Given the description of an element on the screen output the (x, y) to click on. 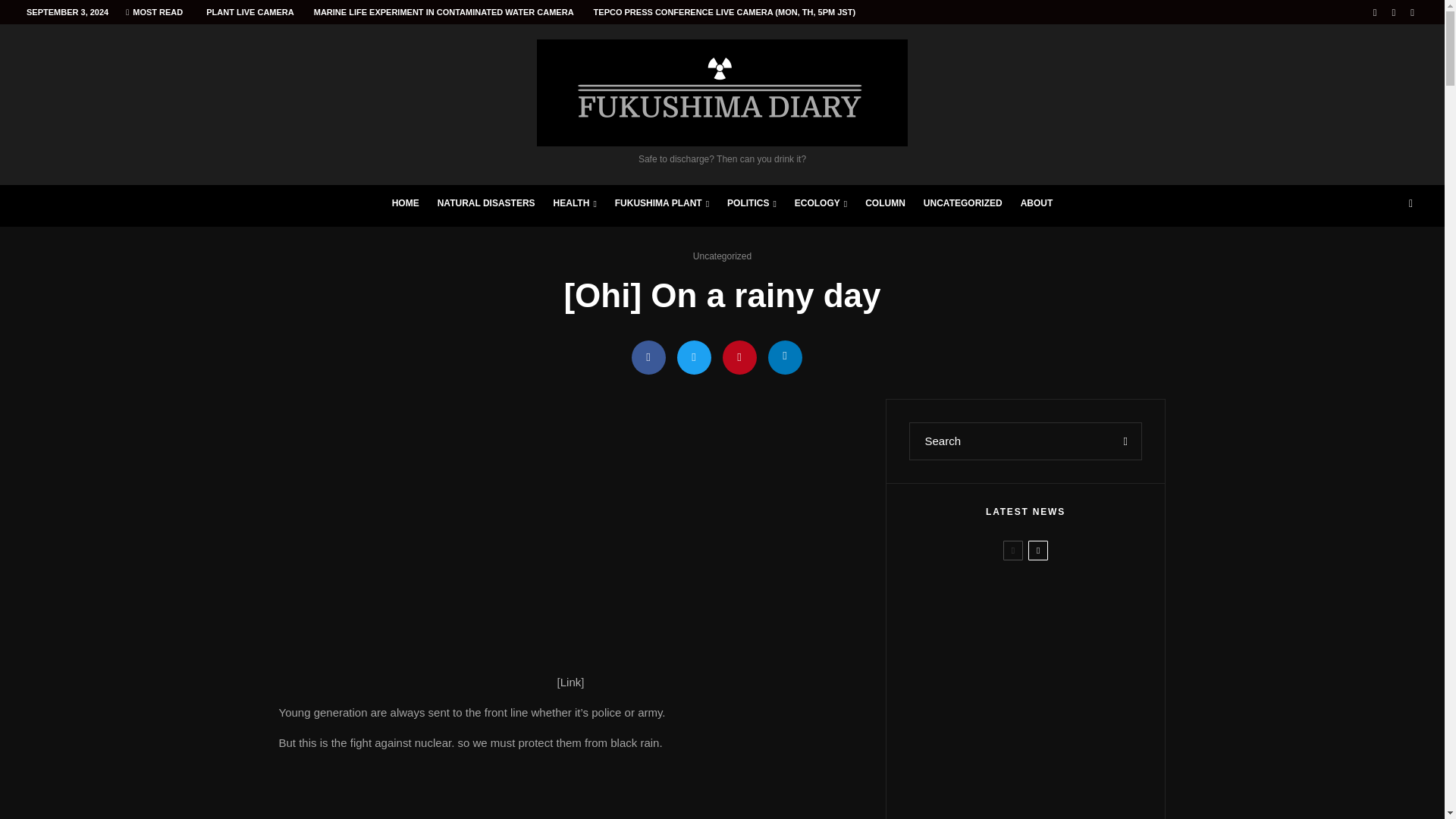
PLANT LIVE CAMERA (250, 12)
HEALTH (574, 205)
MARINE LIFE EXPERIMENT IN CONTAMINATED WATER CAMERA (443, 12)
NATURAL DISASTERS (486, 205)
HOME (405, 205)
MOST READ (154, 12)
Safe to discharge? Then can you drink it? (722, 102)
